Given the description of an element on the screen output the (x, y) to click on. 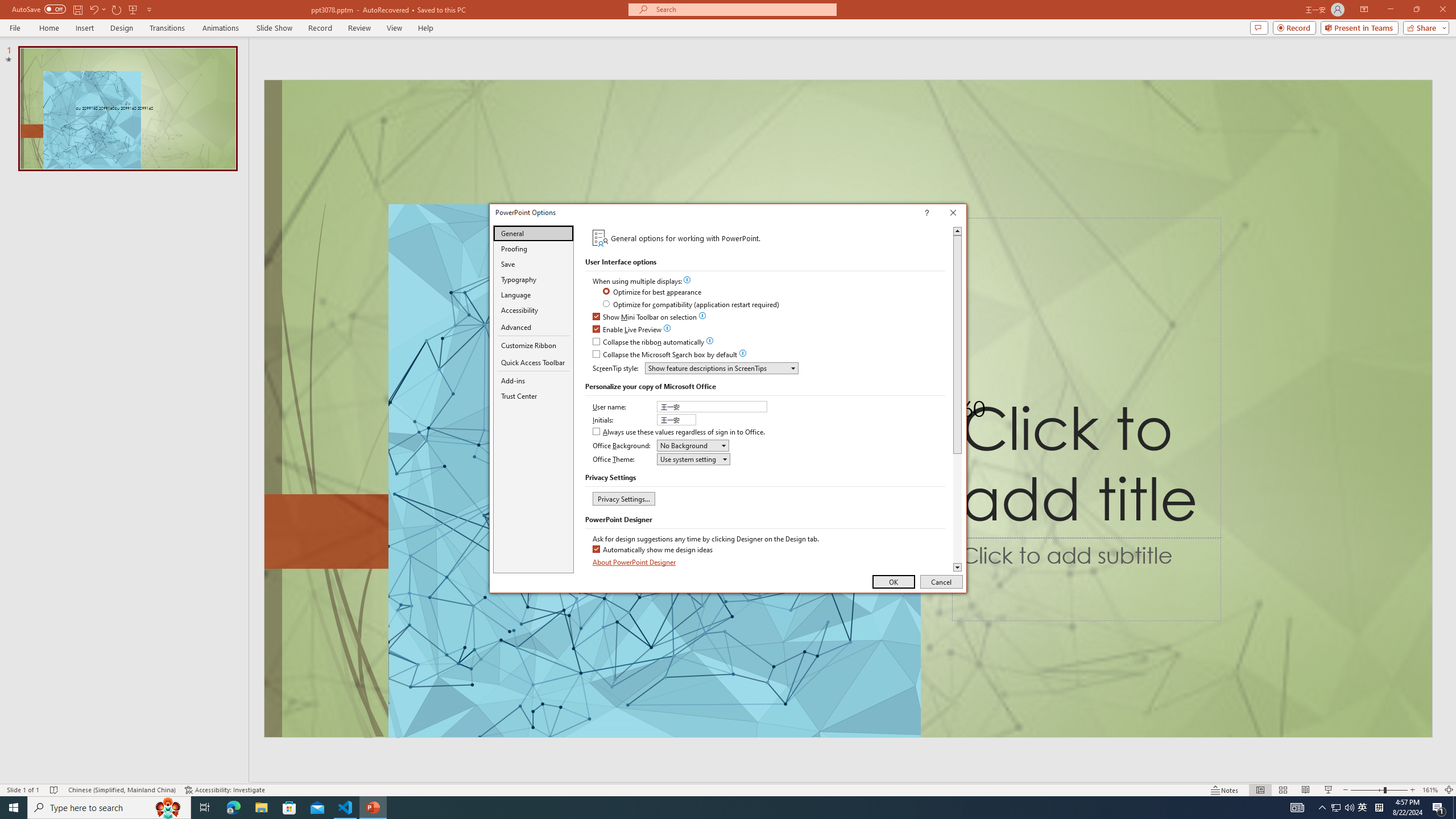
Accessibility Checker Accessibility: Investigate (224, 790)
Office Background (692, 445)
PowerPoint - 1 running window (373, 807)
Always use these values regardless of sign in to Office. (679, 432)
Notification Chevron (1322, 807)
Type here to search (108, 807)
Running applications (707, 807)
Line down (957, 567)
Page down (957, 508)
Context help (943, 214)
